Given the description of an element on the screen output the (x, y) to click on. 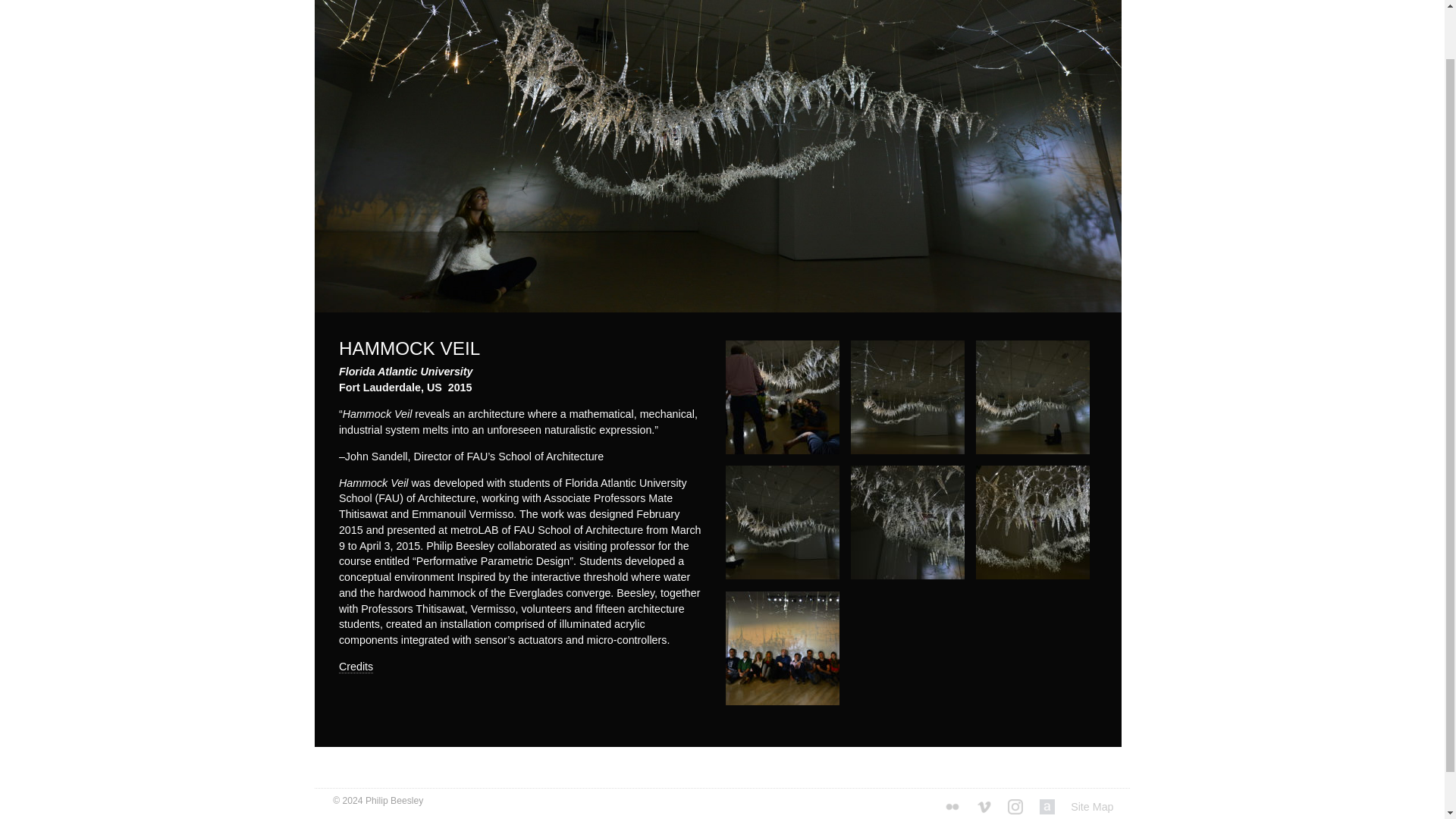
Credits (355, 666)
Site Map (1099, 801)
